Given the description of an element on the screen output the (x, y) to click on. 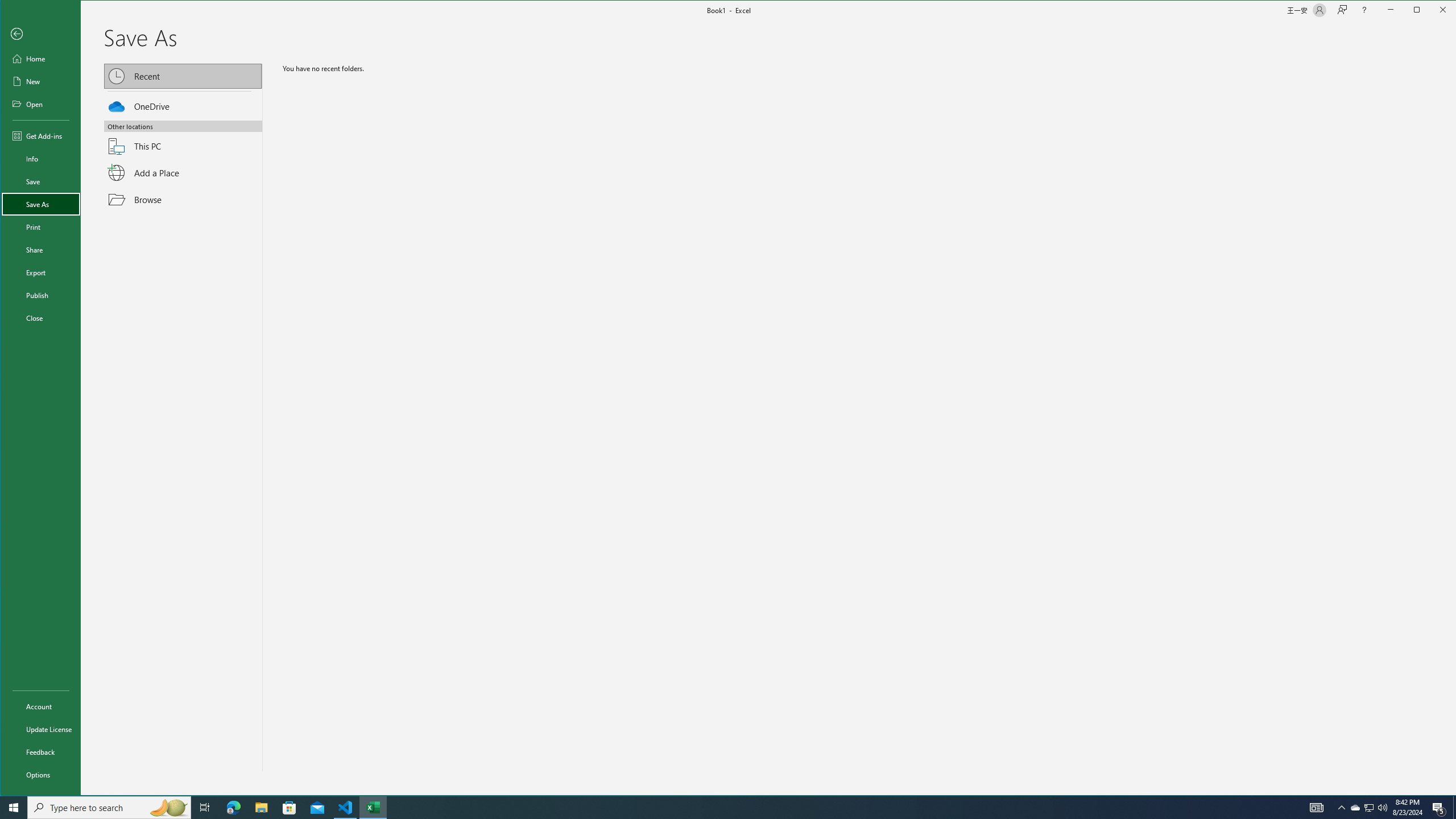
Export (40, 272)
Back (40, 34)
File Explorer (261, 807)
Microsoft Edge (233, 807)
Browse (182, 199)
Notification Chevron (1341, 807)
Start (13, 807)
Excel - 1 running window (373, 807)
Type here to search (108, 807)
Running applications (717, 807)
Save As (40, 203)
Q2790: 100% (1382, 807)
Minimize (1419, 11)
